Given the description of an element on the screen output the (x, y) to click on. 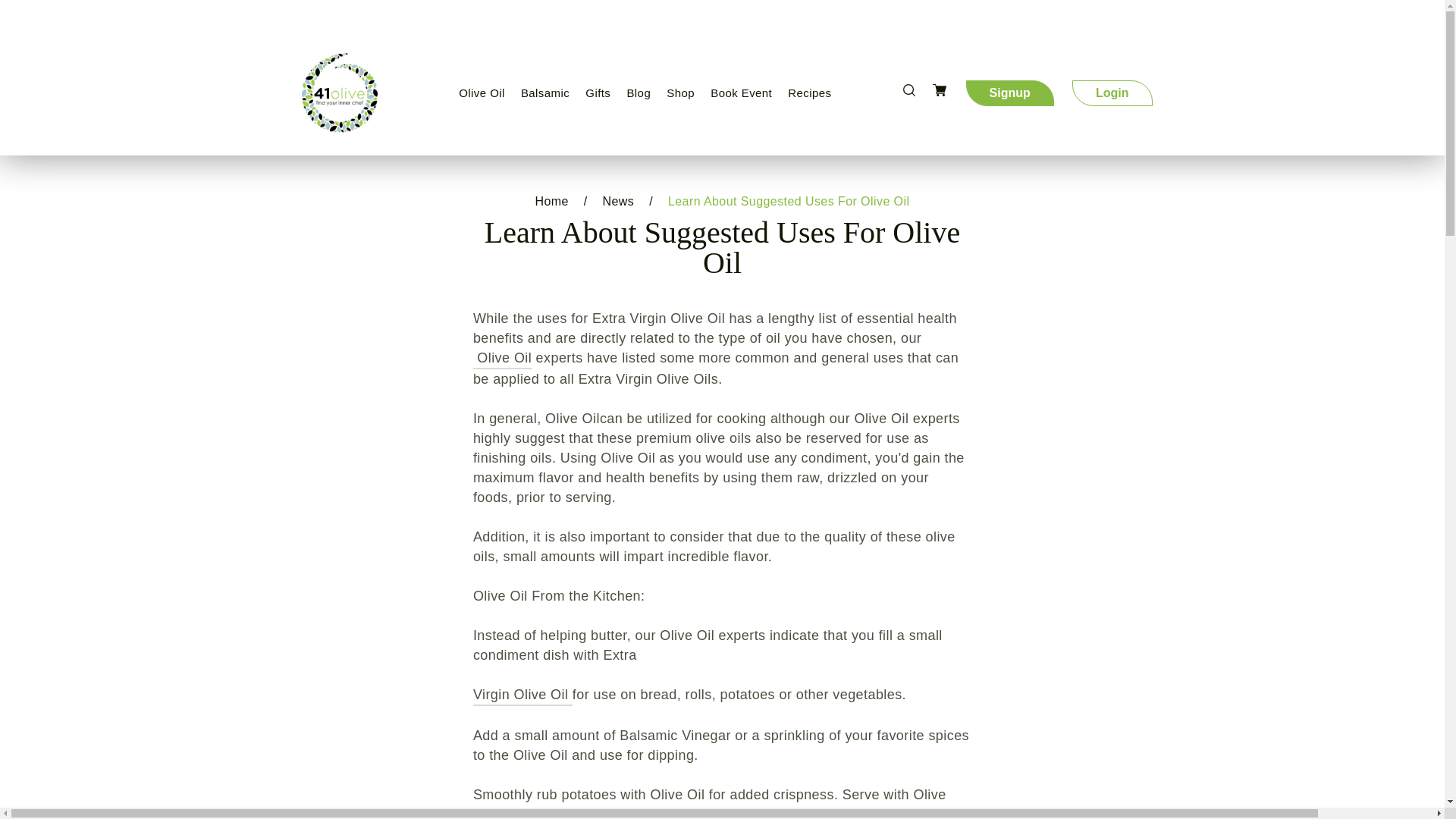
Olive Oil (481, 92)
Gifts (597, 92)
Home (552, 201)
Blog (638, 92)
Balsamic (545, 92)
